Given the description of an element on the screen output the (x, y) to click on. 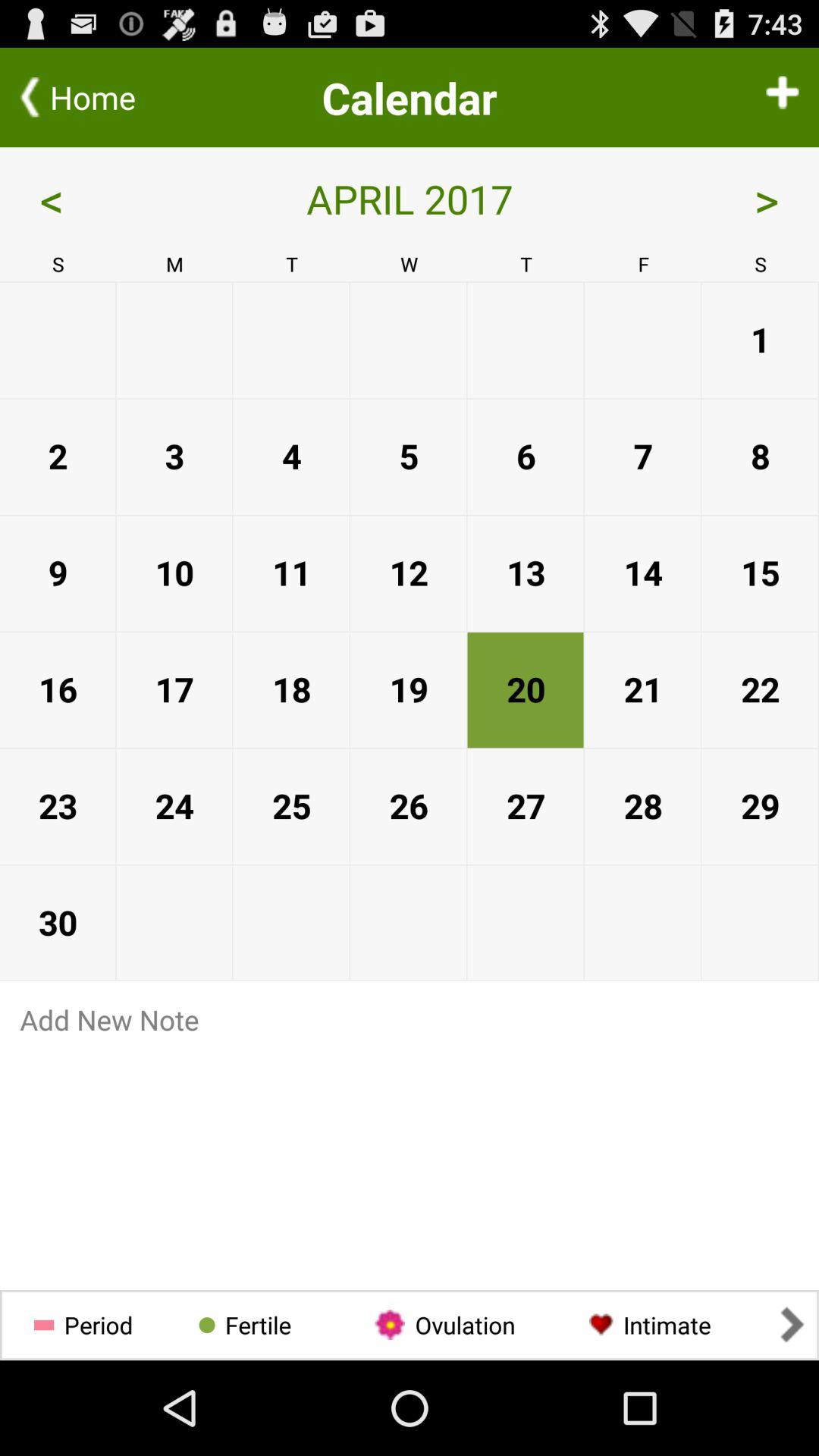
calender note area (409, 1157)
